Given the description of an element on the screen output the (x, y) to click on. 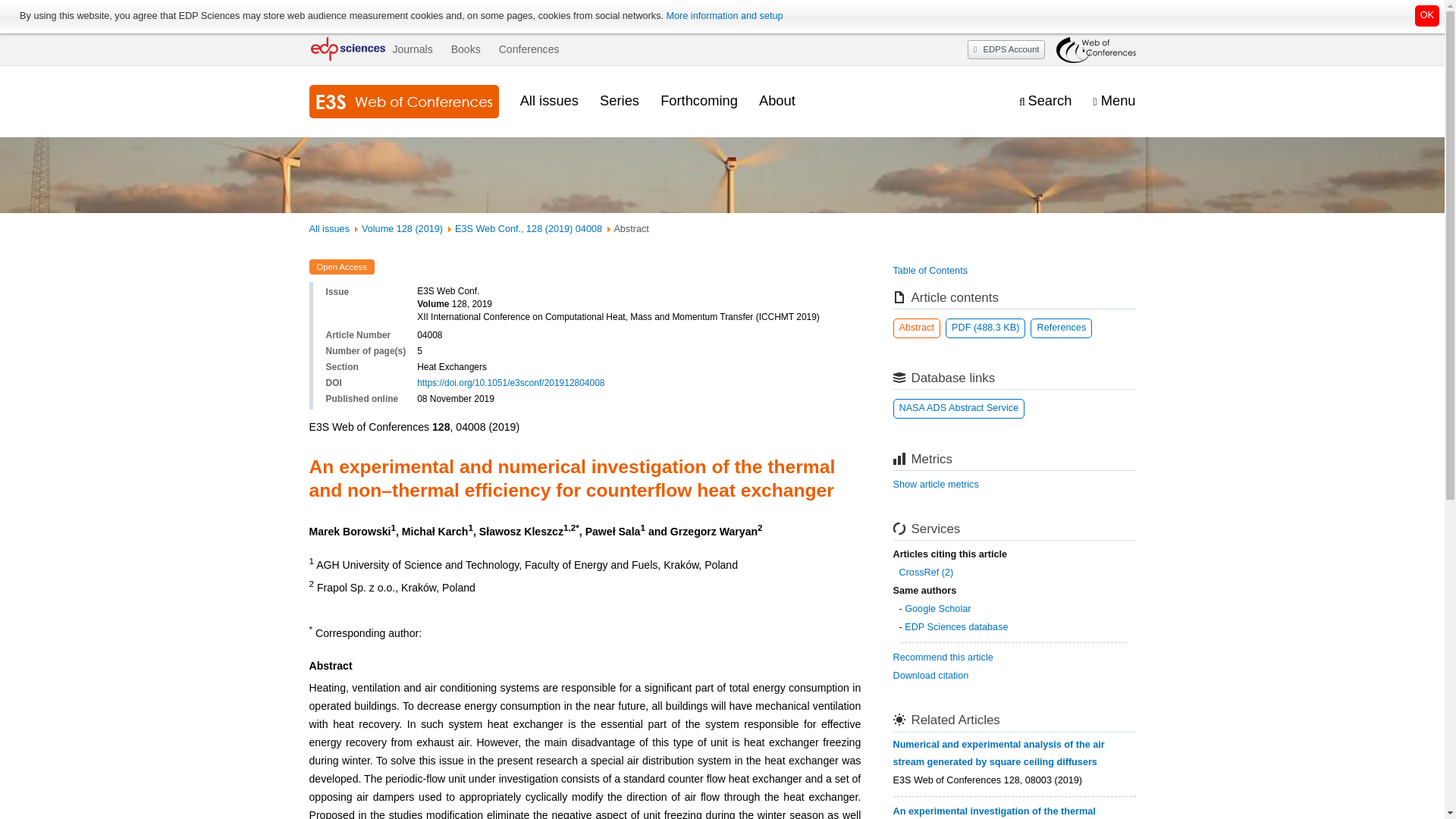
Journal homepage (403, 101)
Abstract (916, 328)
Conferences (529, 49)
Display the search engine (1045, 101)
Books (465, 49)
Click to close this notification (1427, 15)
OK (1427, 15)
More information and setup (724, 15)
Journals (411, 49)
